Given the description of an element on the screen output the (x, y) to click on. 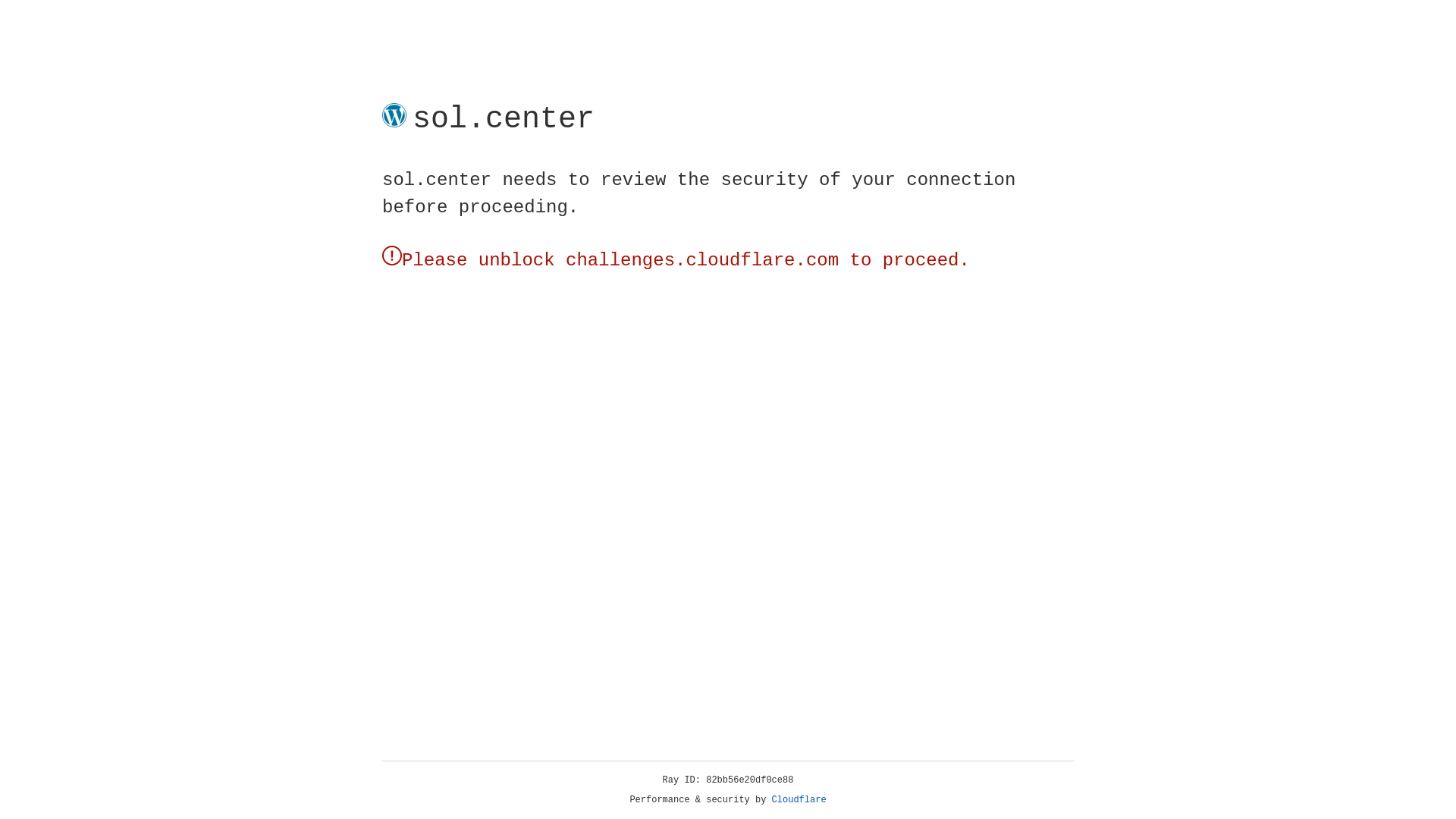
Cloudflare Element type: text (798, 799)
